Given the description of an element on the screen output the (x, y) to click on. 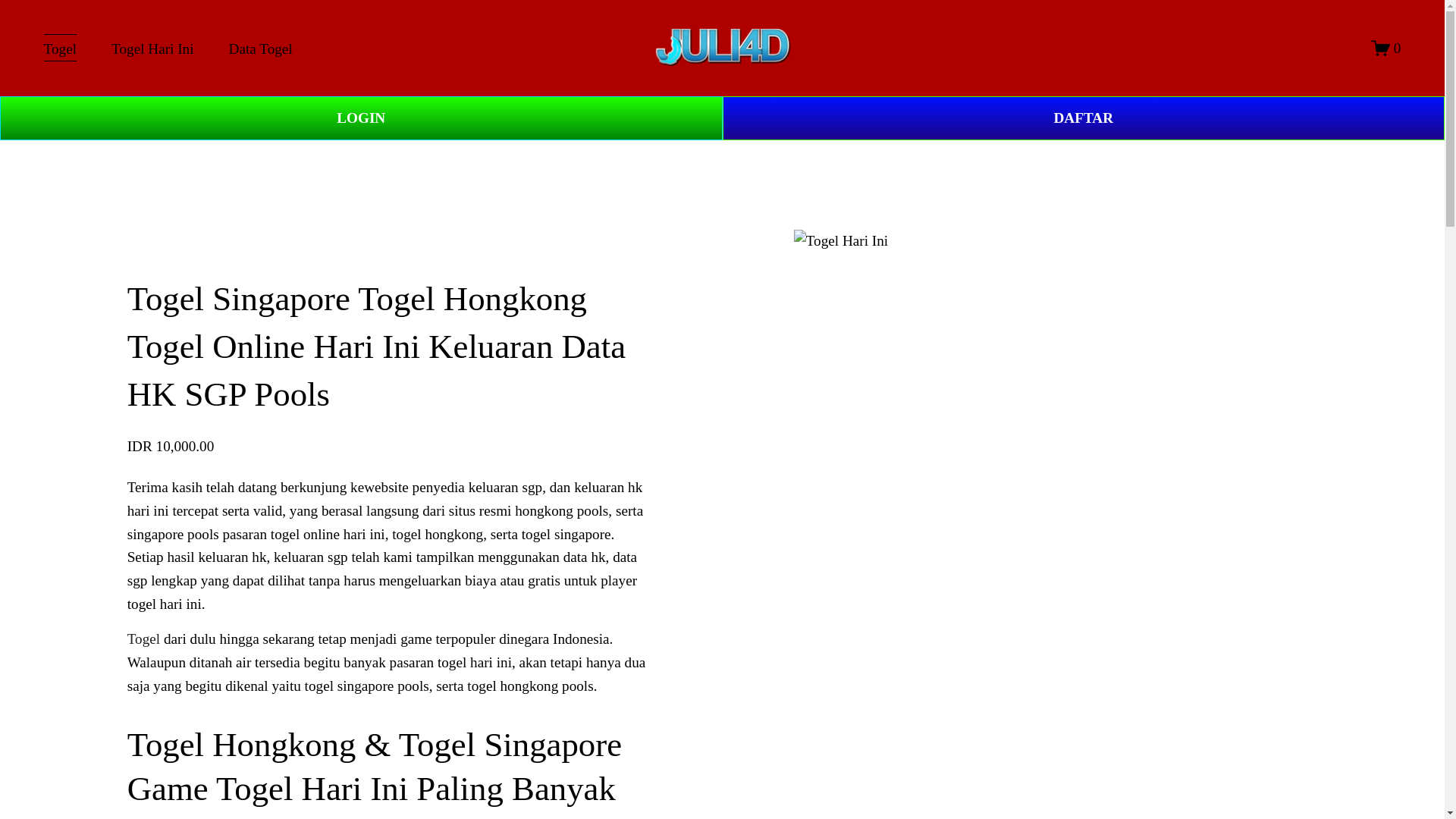
Data Togel (260, 49)
Togel (144, 638)
0 (1385, 47)
Togel Hari Ini (152, 49)
Togel (60, 49)
LOGIN (361, 118)
